Given the description of an element on the screen output the (x, y) to click on. 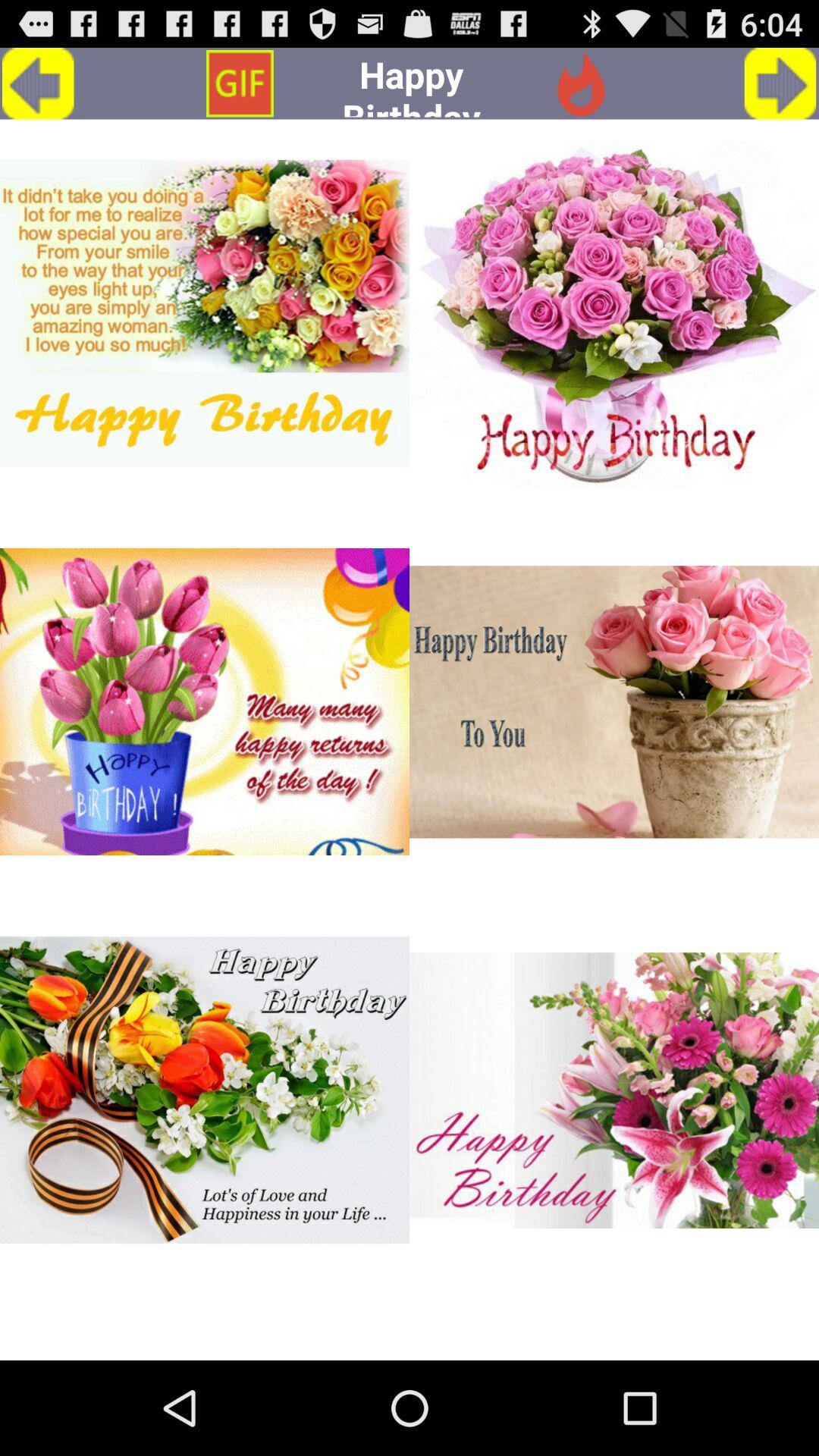
go back (38, 83)
